Given the description of an element on the screen output the (x, y) to click on. 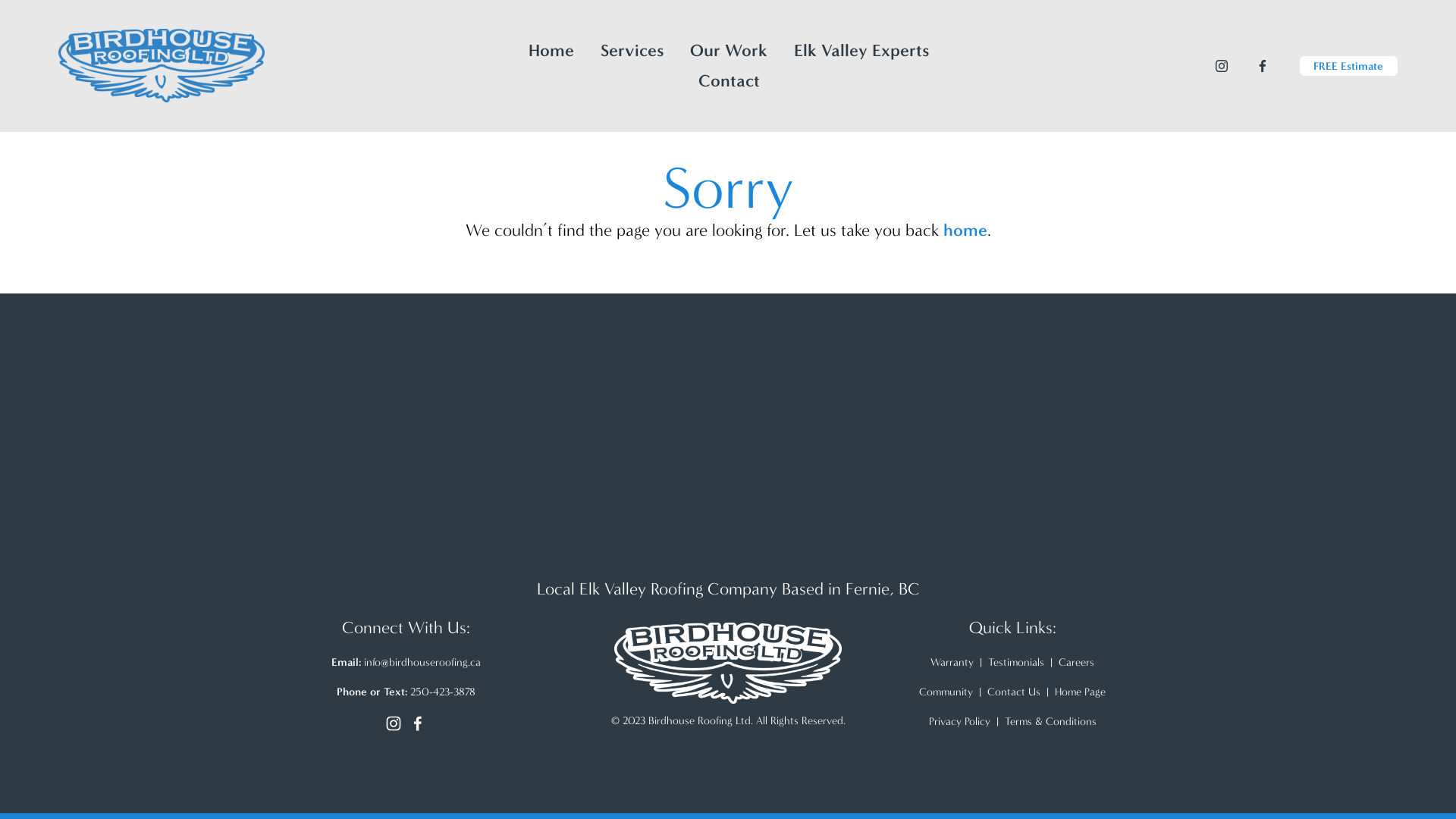
Terms & Conditions Element type: text (1049, 721)
Contact Us Element type: text (1013, 691)
Warranty Element type: text (951, 662)
Privacy Policy Element type: text (958, 721)
Home Element type: text (551, 50)
info@birdhouseroofing.ca Element type: text (422, 662)
home Element type: text (965, 229)
Contact Element type: text (728, 80)
Community Element type: text (945, 691)
Elk Valley Experts Element type: text (861, 50)
Testimonials Element type: text (1016, 662)
Our Work Element type: text (728, 50)
FREE Estimate Element type: text (1348, 65)
250-423-3878 Element type: text (441, 691)
Services Element type: text (632, 50)
Careers Element type: text (1076, 662)
Home Page Element type: text (1079, 691)
